Given the description of an element on the screen output the (x, y) to click on. 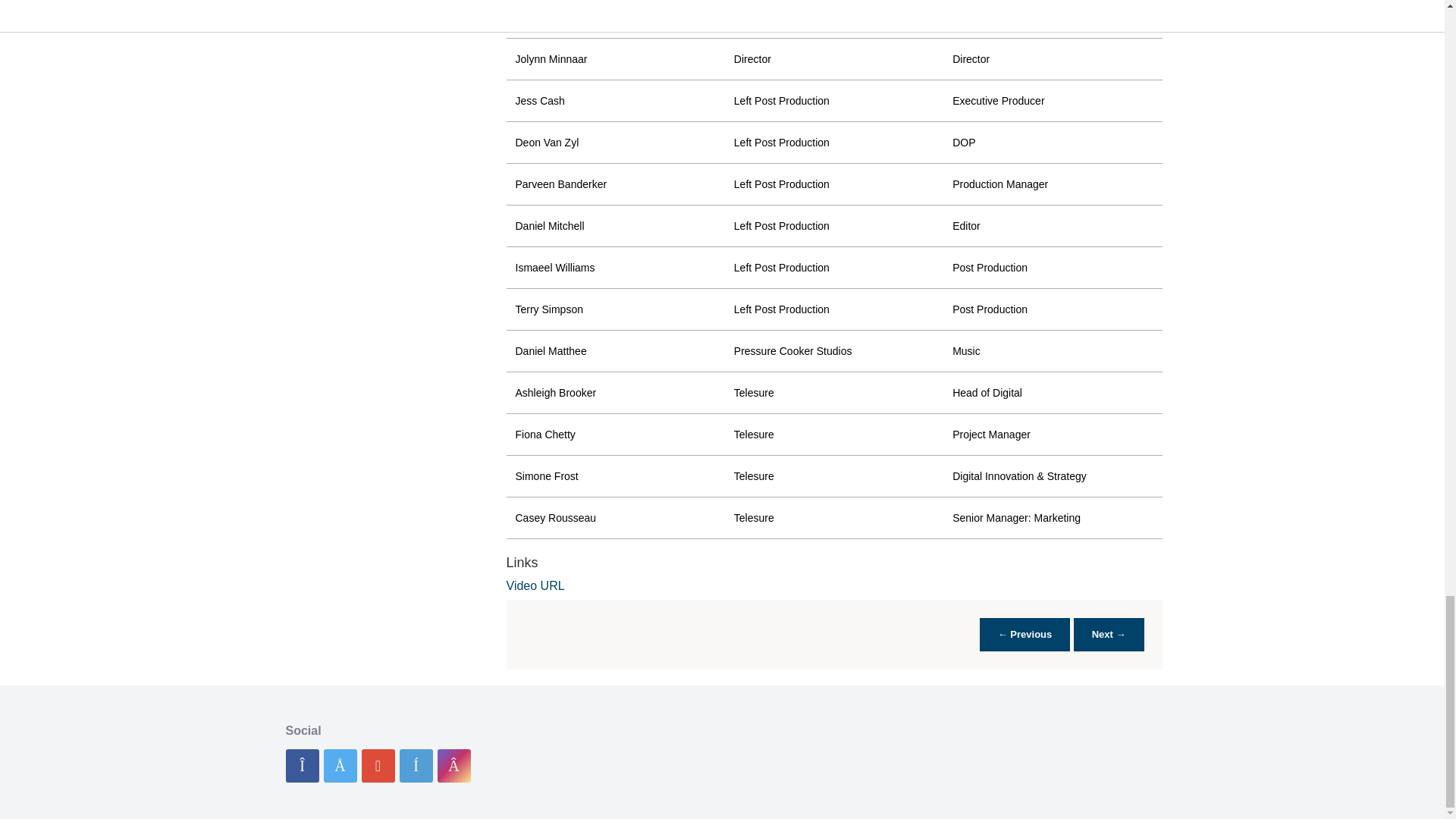
Video URL (535, 585)
